Given the description of an element on the screen output the (x, y) to click on. 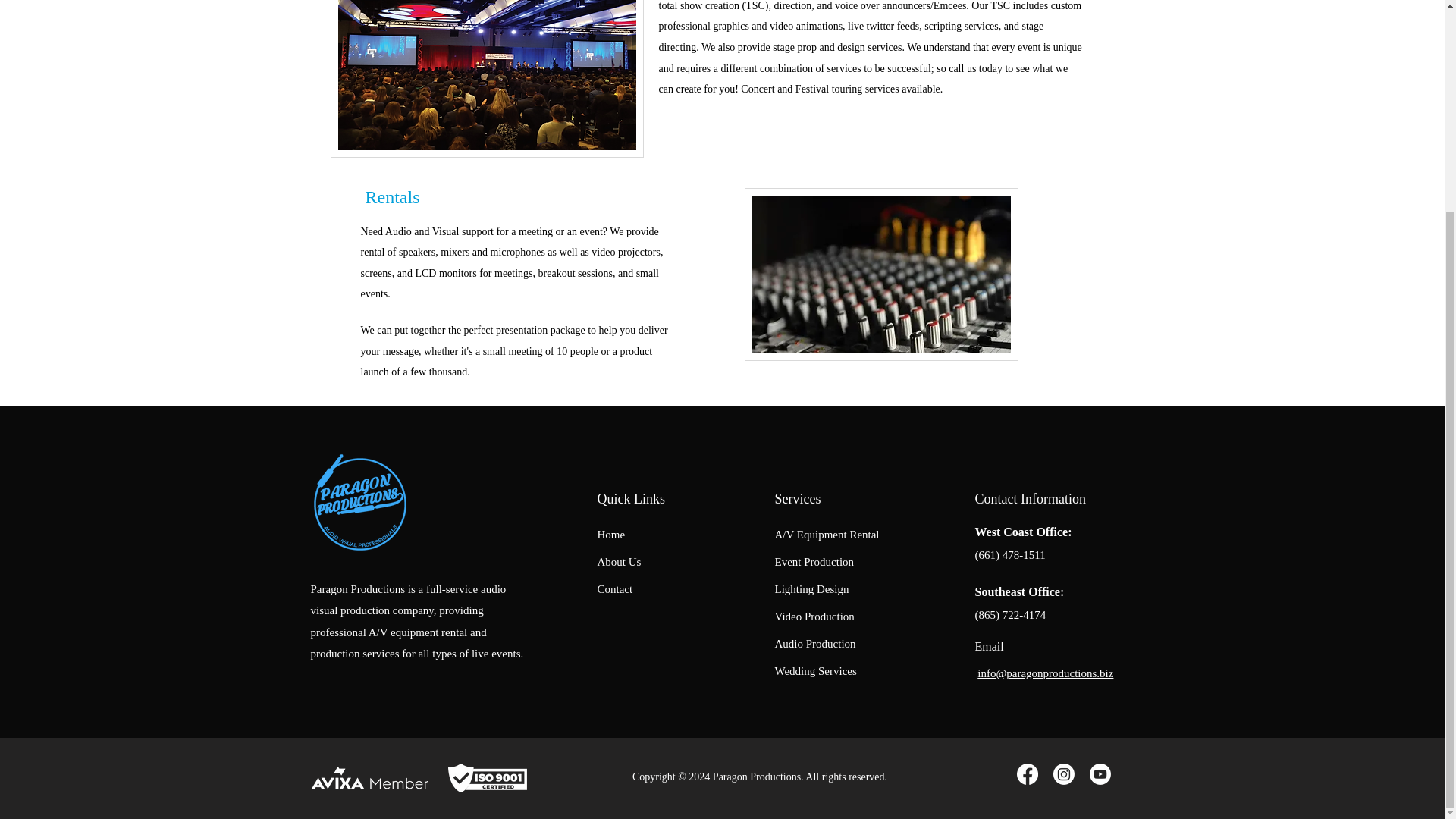
Event Production (814, 561)
Home (611, 533)
Contact (614, 589)
Wedding Services (815, 671)
Audio Production (815, 643)
Lighting Design (811, 588)
Video Production (814, 615)
About Us (619, 561)
